Given the description of an element on the screen output the (x, y) to click on. 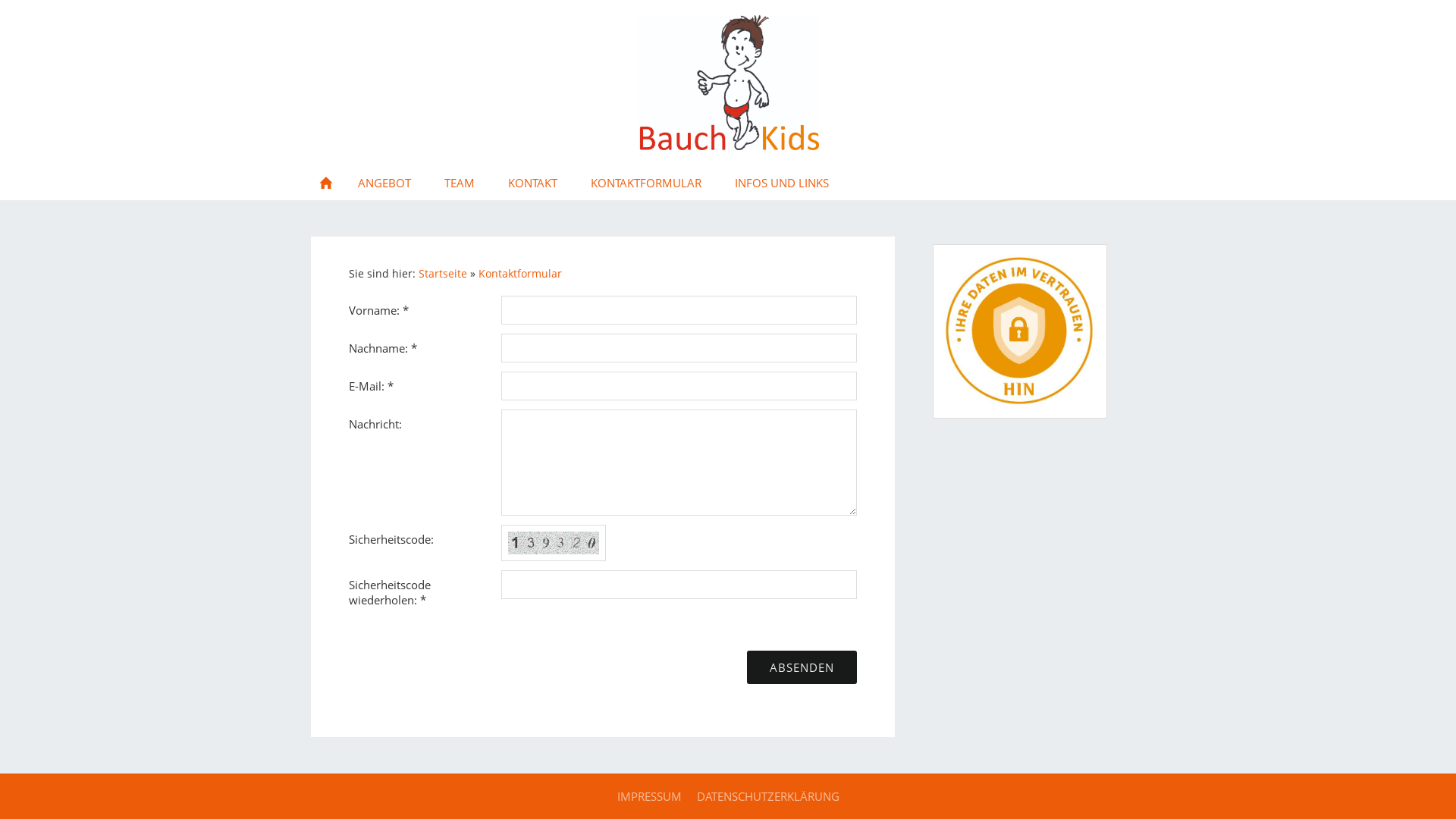
Startseite Element type: text (442, 273)
KONTAKTFORMULAR Element type: text (646, 182)
IMPRESSUM Element type: text (649, 795)
ANGEBOT Element type: text (384, 182)
absenden Element type: text (801, 667)
KONTAKT Element type: text (532, 182)
TEAM Element type: text (459, 182)
INFOS UND LINKS Element type: text (781, 182)
Kontaktformular Element type: text (519, 273)
